Given the description of an element on the screen output the (x, y) to click on. 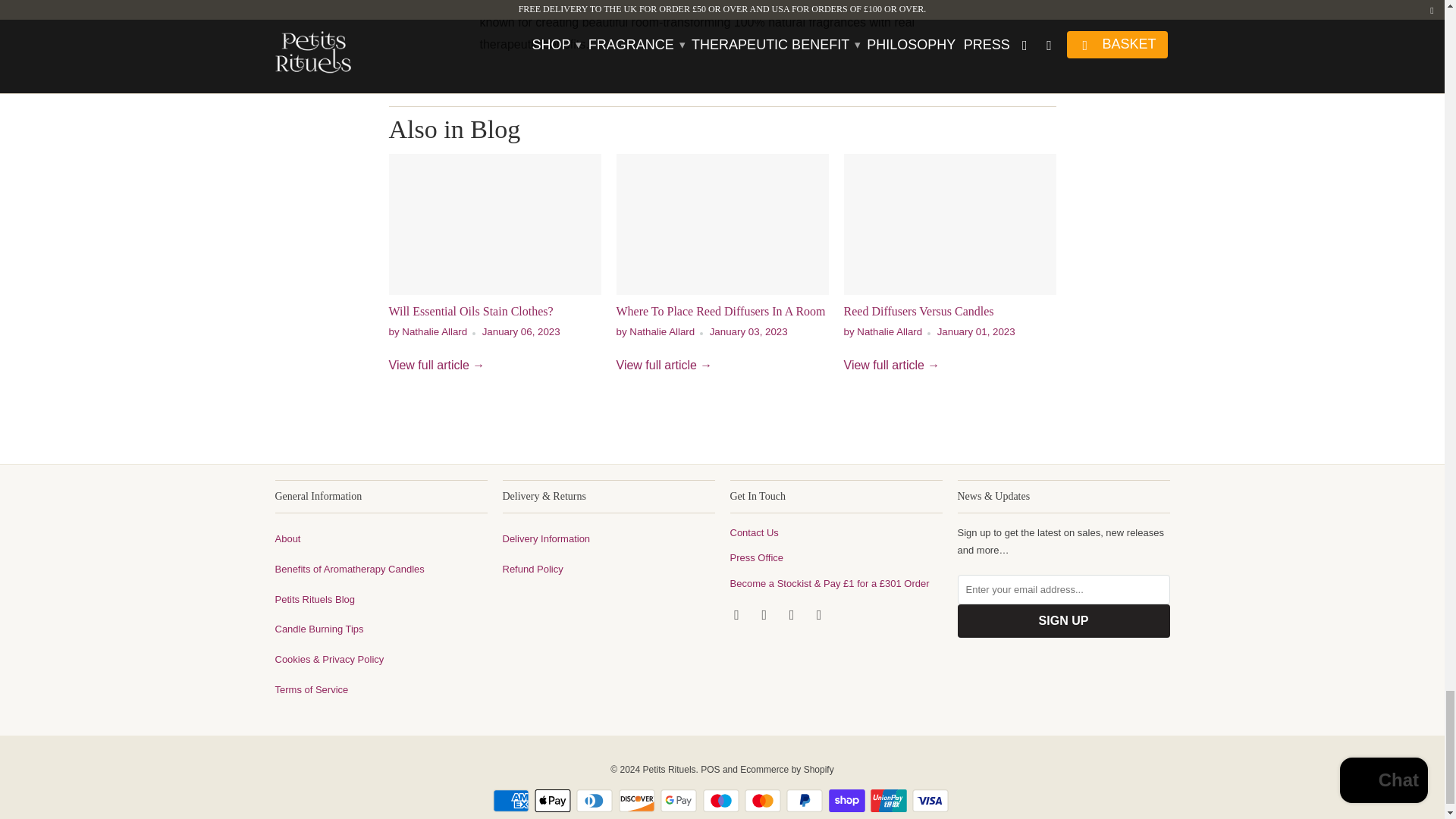
Maestro (721, 800)
Reed Diffusers Versus Candles (917, 310)
Sign Up (1062, 621)
Where To Place Reed Diffusers In A Room (663, 364)
Mastercard (764, 800)
Will Essential Oils Stain Clothes? (436, 364)
Visa (932, 800)
Google Pay (680, 800)
Where To Place Reed Diffusers In A Room (720, 310)
Shop Pay (847, 800)
